Given the description of an element on the screen output the (x, y) to click on. 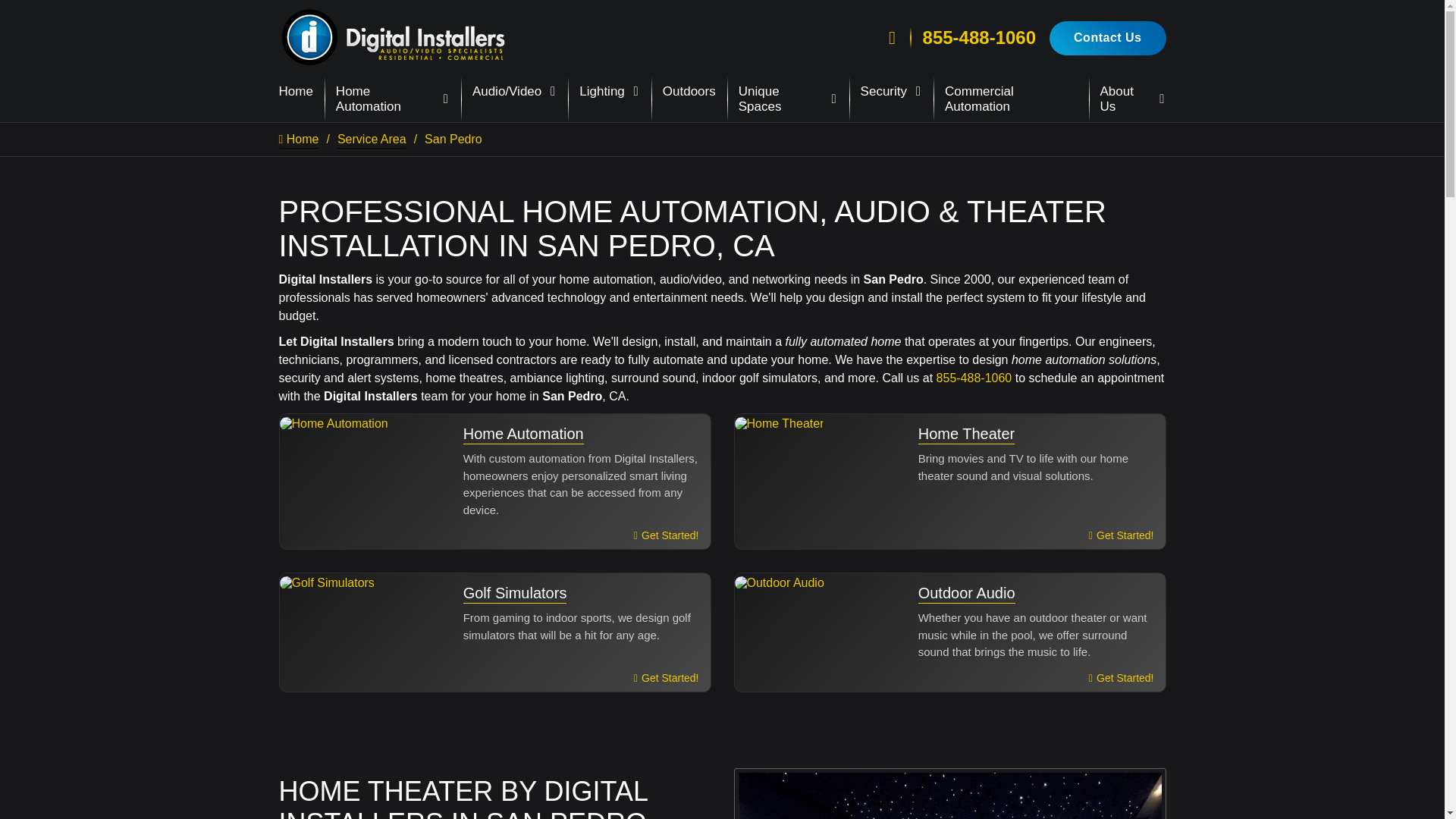
Unique Spaces (788, 99)
Home Automation (392, 99)
About Us (1133, 99)
Outdoors (689, 91)
Commercial Automation (1010, 99)
Home (296, 91)
855-488-1060 (979, 37)
Contact Us (1107, 38)
Security (890, 91)
Lighting (609, 91)
